Given the description of an element on the screen output the (x, y) to click on. 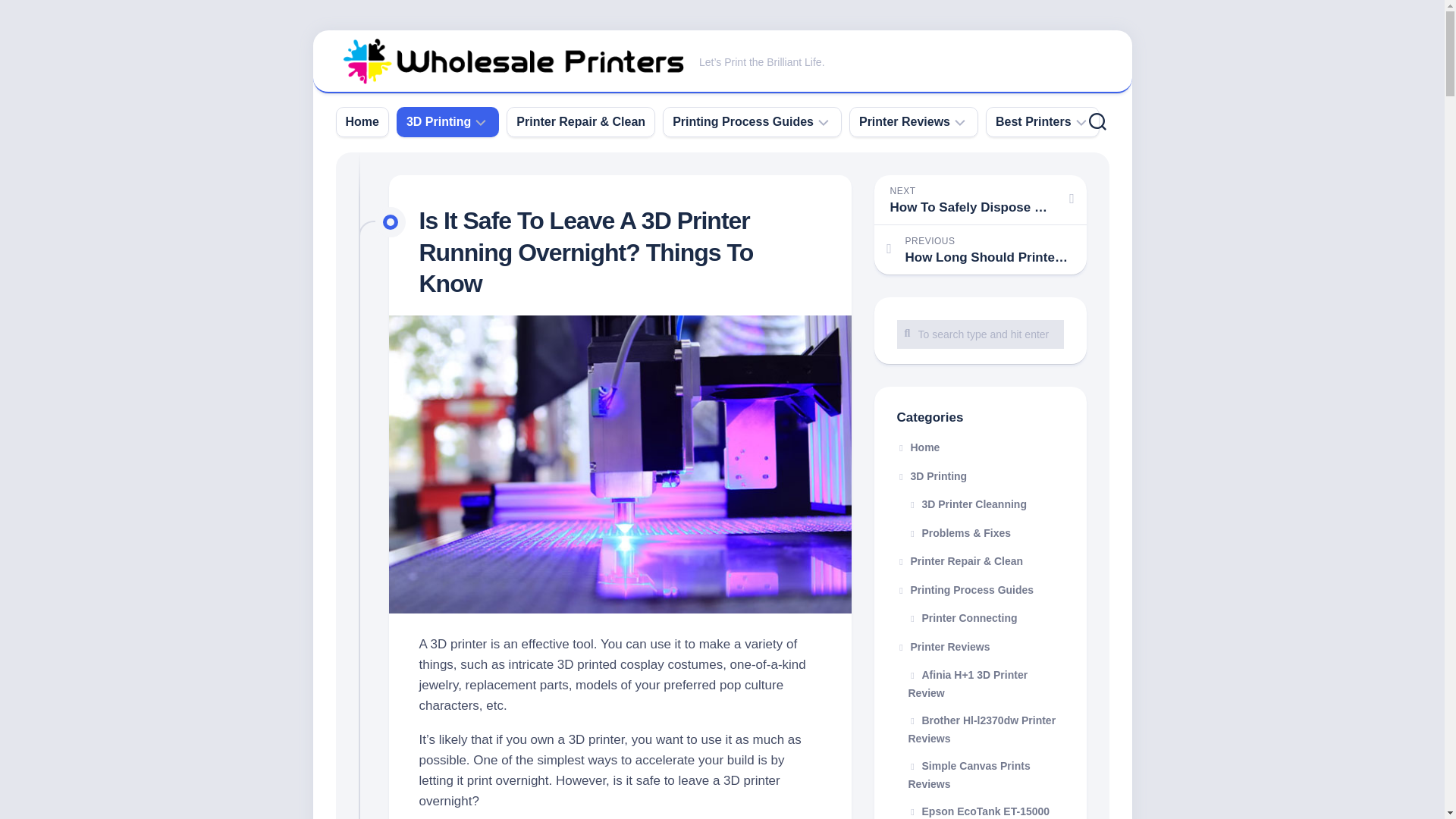
3D Printing (438, 121)
Home (362, 121)
To search type and hit enter (979, 334)
Printing Process Guides (742, 121)
Best Printers (1033, 121)
To search type and hit enter (979, 334)
Printer Reviews (904, 121)
